Given the description of an element on the screen output the (x, y) to click on. 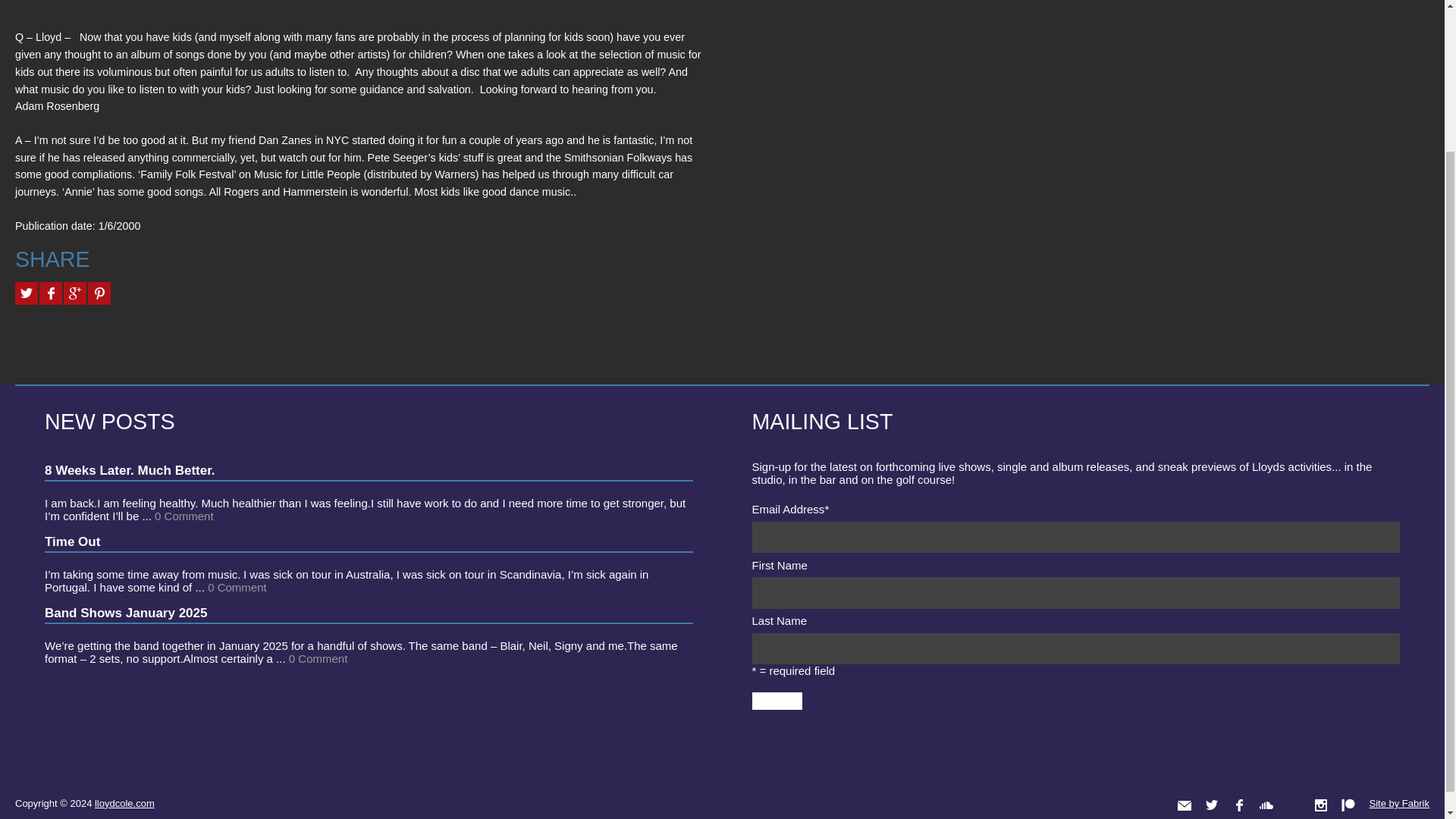
0 Comment (237, 586)
0 Comment (317, 657)
Submit (777, 701)
Submit (777, 701)
Tweet This (25, 292)
Time Out (72, 540)
lloydcole.com (124, 802)
Share on Facebook (50, 292)
Site by Fabrik (1399, 803)
Band Shows January 2025 (125, 611)
0 Comment (184, 514)
8 Weeks Later. Much Better. (130, 469)
Pin it (98, 292)
